Given the description of an element on the screen output the (x, y) to click on. 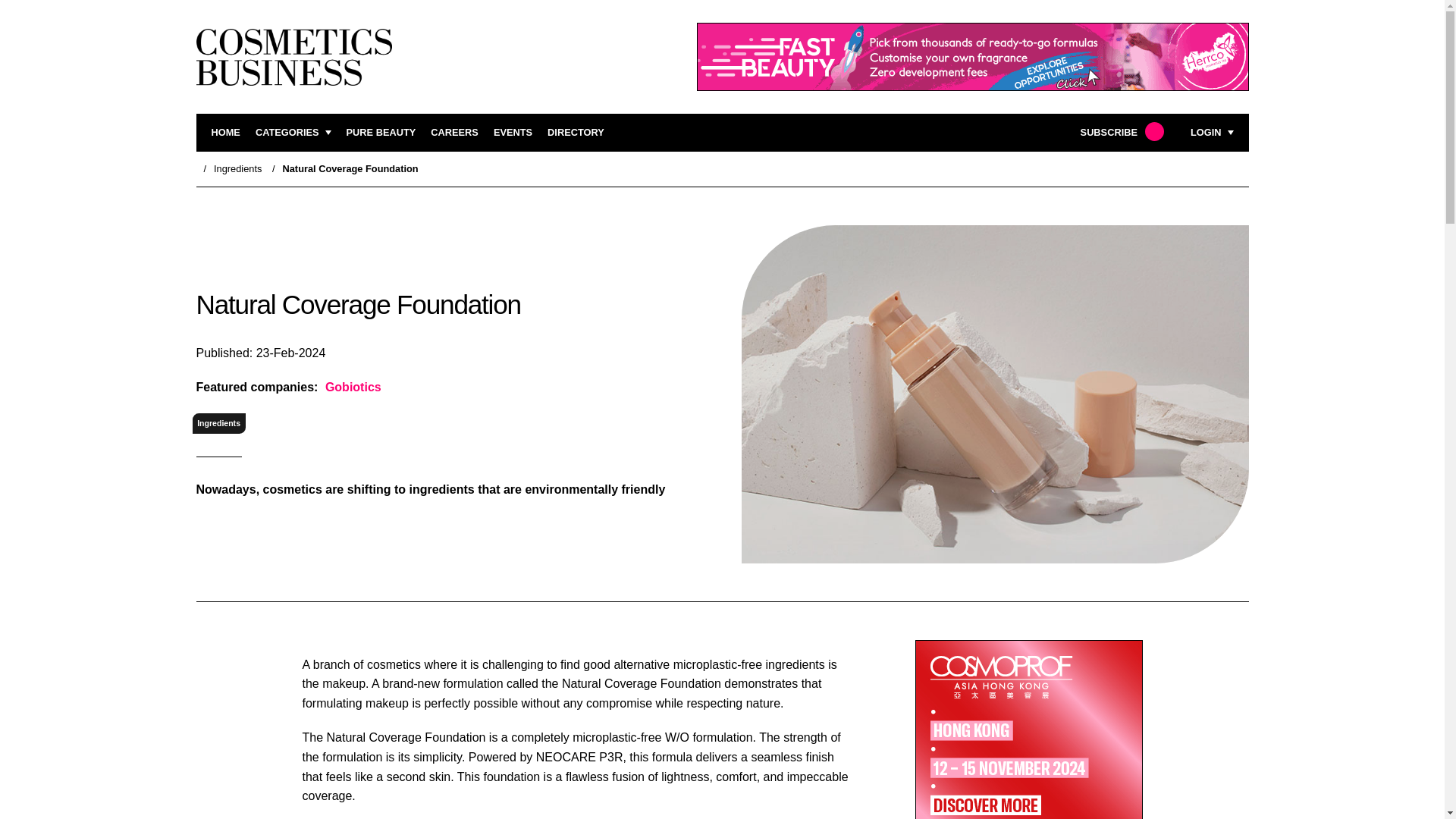
Directory (575, 133)
Sign In (1134, 321)
HOME (225, 133)
DIRECTORY (575, 133)
SUBSCRIBE (1120, 133)
PURE BEAUTY (381, 133)
Ingredients (238, 168)
EVENTS (512, 133)
CATEGORIES (293, 133)
Pure Beauty (381, 133)
Gobiotics (351, 387)
LOGIN (1212, 133)
Ingredients (219, 423)
CAREERS (454, 133)
